Given the description of an element on the screen output the (x, y) to click on. 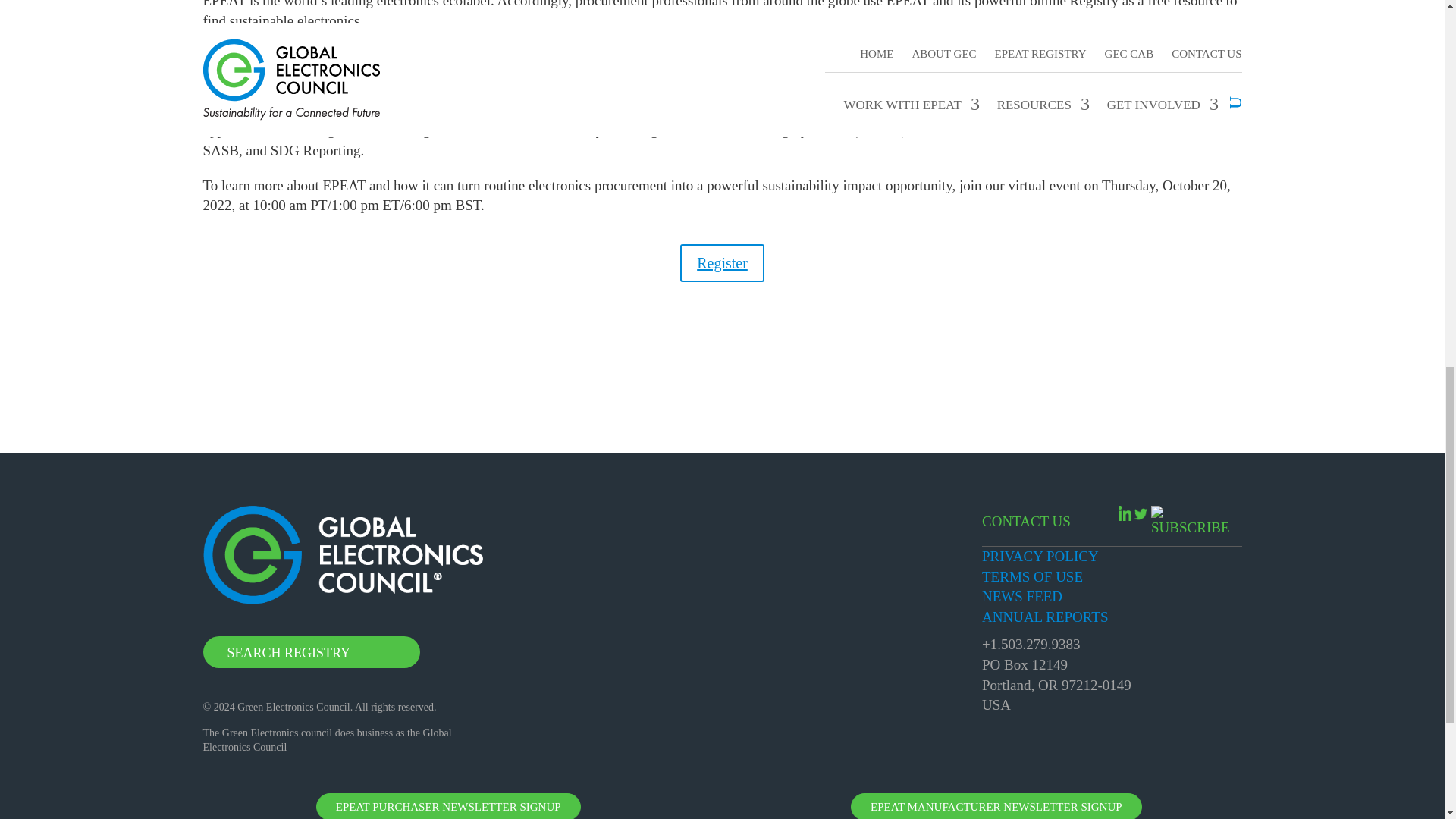
SEARCH REGISTRY (311, 652)
Register (721, 262)
CONTACT US (1025, 521)
logo-02 (343, 555)
